Given the description of an element on the screen output the (x, y) to click on. 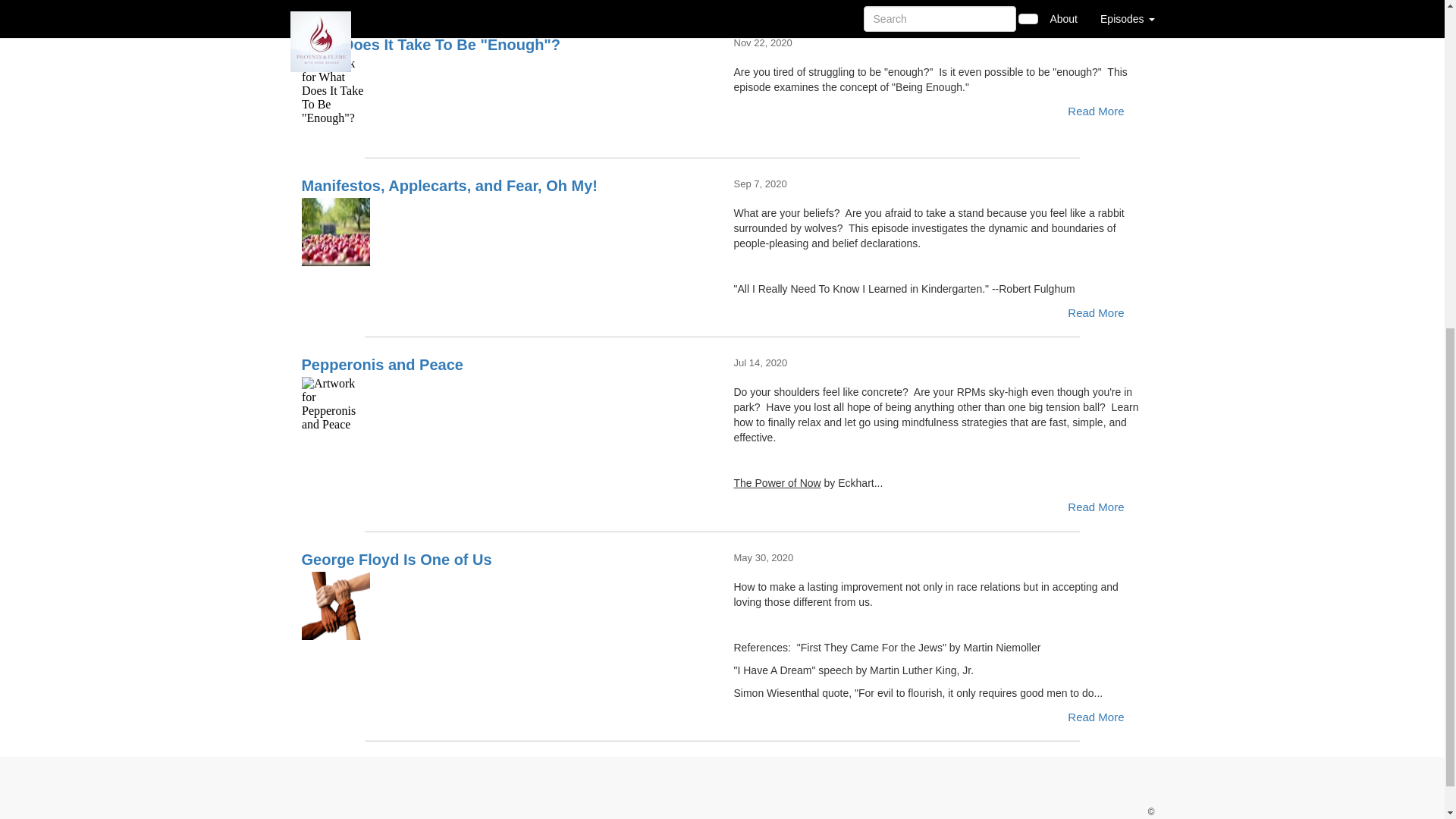
Pepperonis and Peace (506, 410)
What Does It Take To Be "Enough"? (506, 90)
Manifestos, Applecarts, and Fear, Oh My! (506, 232)
George Floyd Is One of Us (506, 605)
